Given the description of an element on the screen output the (x, y) to click on. 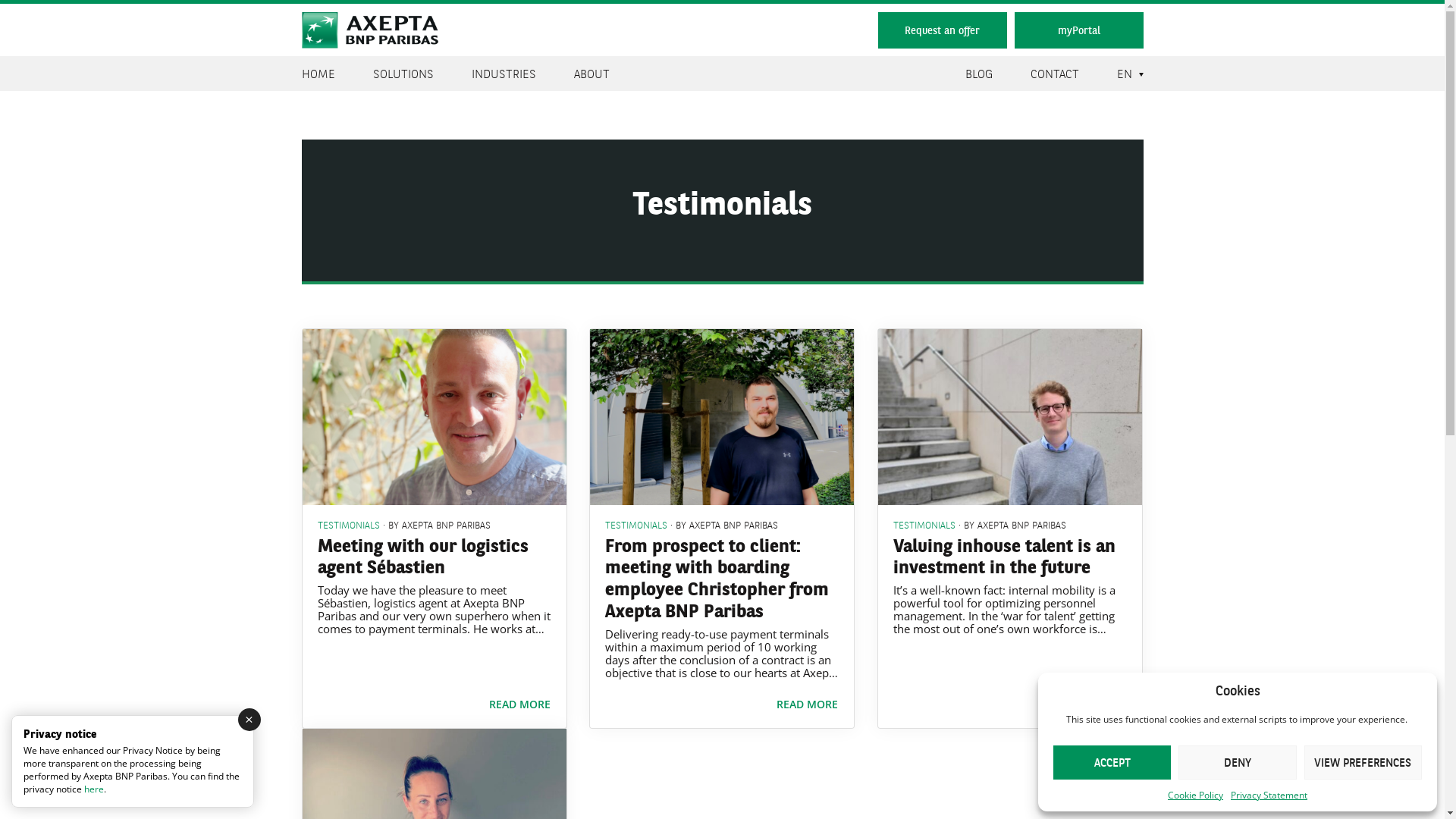
Cookie Policy Element type: text (1195, 795)
TESTIMONIALS Element type: text (924, 523)
Valuing inhouse talent is an investment in the future Element type: hover (1010, 417)
TESTIMONIALS Element type: text (636, 523)
DENY Element type: text (1236, 762)
Privacy notice Element type: text (59, 732)
myPortal Element type: text (1078, 30)
CLOSE Element type: text (249, 719)
BLOG Element type: text (977, 73)
INDUSTRIES Element type: text (503, 73)
ACCEPT Element type: text (1111, 762)
Request an offer Element type: text (942, 30)
EN Element type: text (1123, 73)
ABOUT Element type: text (590, 73)
SOLUTIONS Element type: text (403, 73)
CONTACT Element type: text (1053, 73)
Valuing inhouse talent is an investment in the future Element type: text (1004, 555)
Privacy Statement Element type: text (1268, 795)
VIEW PREFERENCES Element type: text (1362, 762)
TESTIMONIALS Element type: text (347, 523)
here Element type: text (93, 788)
HOME Element type: text (318, 73)
